Given the description of an element on the screen output the (x, y) to click on. 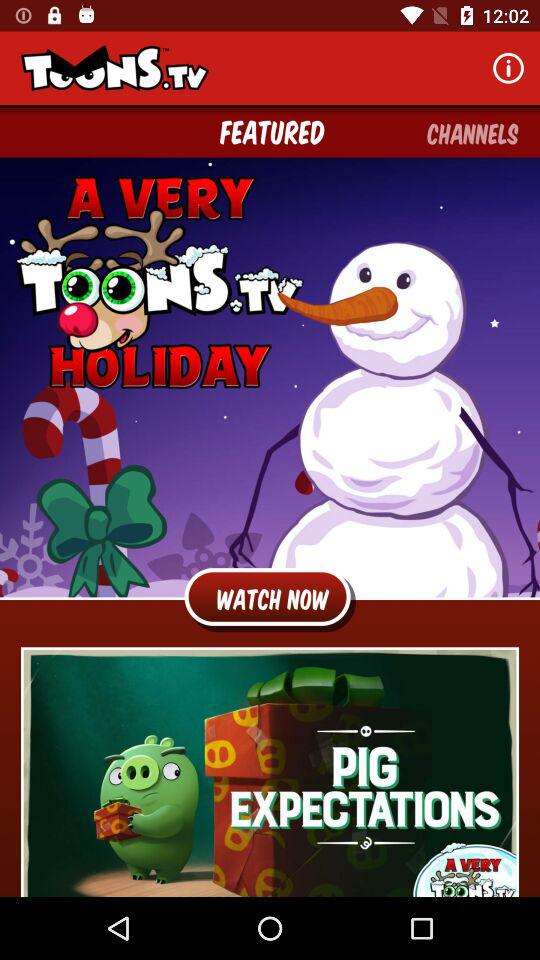
tap the icon below watch now item (270, 771)
